Given the description of an element on the screen output the (x, y) to click on. 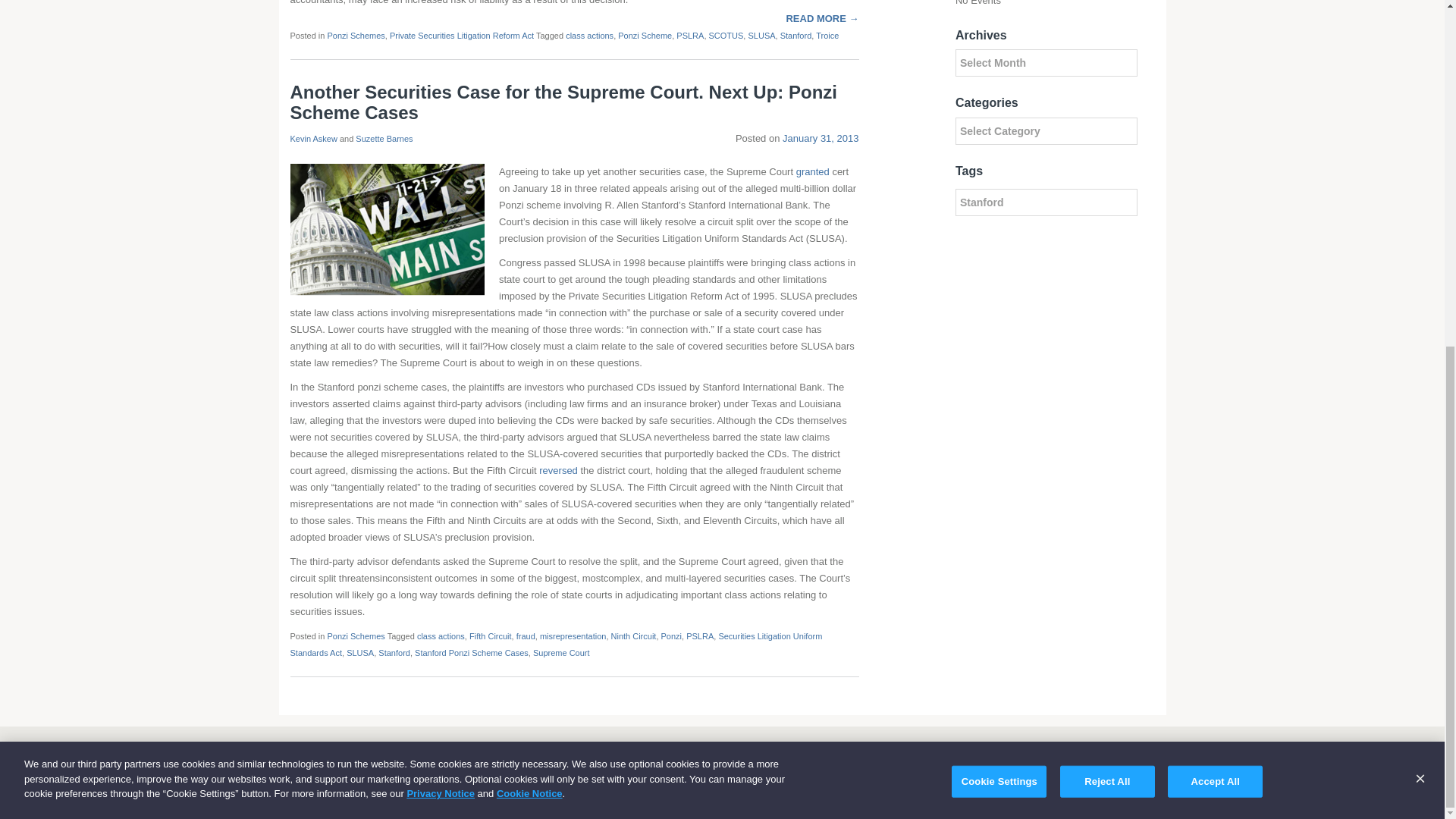
8:00 am (821, 138)
Ponzi Schemes (355, 635)
Ponzi (671, 635)
PSLRA (690, 35)
Posts by Suzette Barnes (383, 138)
SLUSA (360, 652)
class actions (440, 635)
misrepresentation (572, 635)
Ponzi Scheme (644, 35)
Ninth Circuit (633, 635)
SCOTUS (726, 35)
January 31, 2013 (821, 138)
reversed (558, 470)
Ponzi Schemes (355, 35)
